Given the description of an element on the screen output the (x, y) to click on. 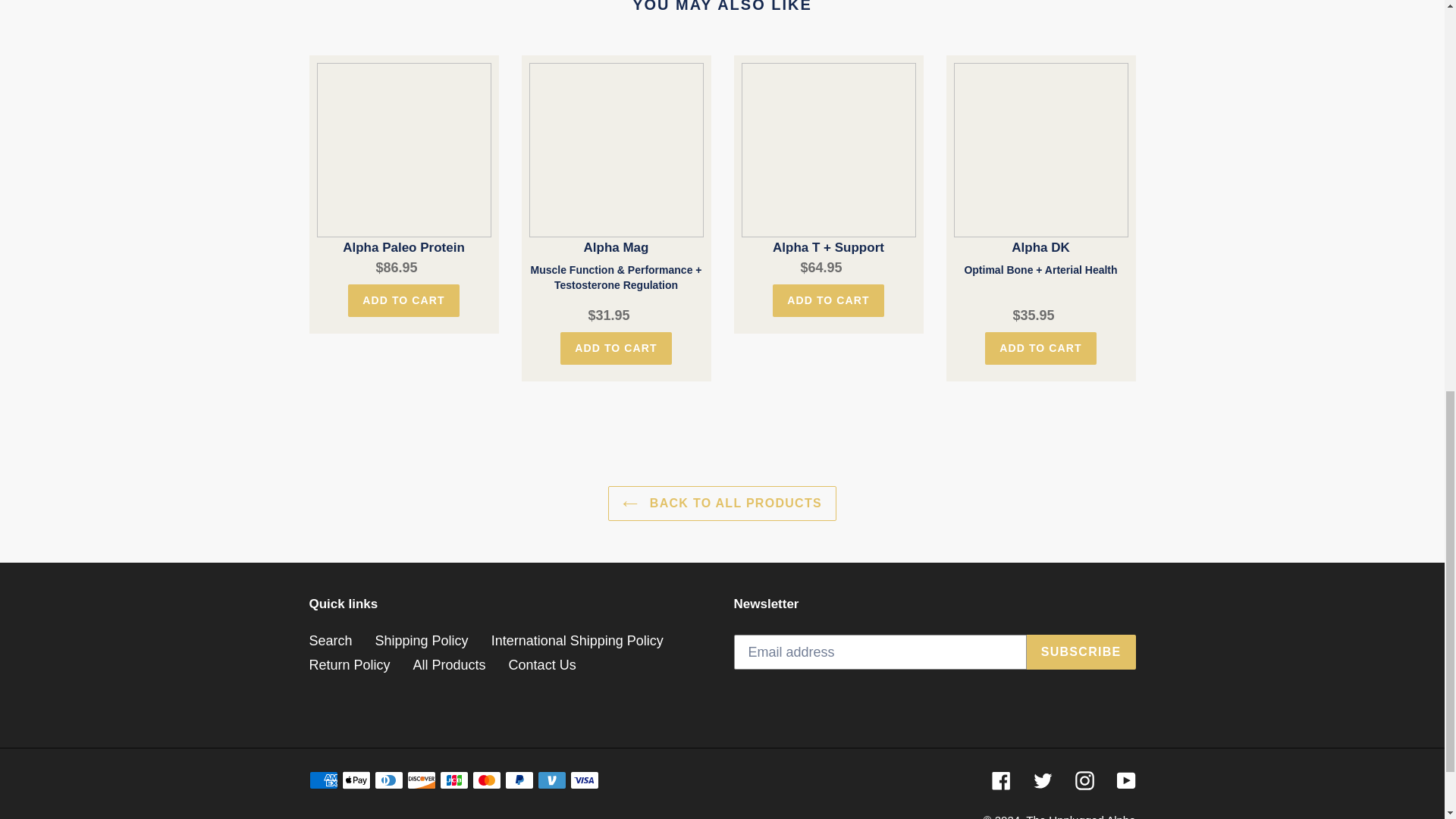
ADD TO CART (403, 300)
Search (330, 640)
International Shipping Policy (577, 640)
ADD TO CART (615, 348)
Shipping Policy (421, 640)
All Products (449, 664)
Alpha Paleo Protein (403, 160)
Alpha Mag (616, 184)
Alpha DK (1040, 184)
ADD TO CART (1040, 348)
Return Policy (349, 664)
ADD TO CART (828, 300)
BACK TO ALL PRODUCTS (721, 503)
